Given the description of an element on the screen output the (x, y) to click on. 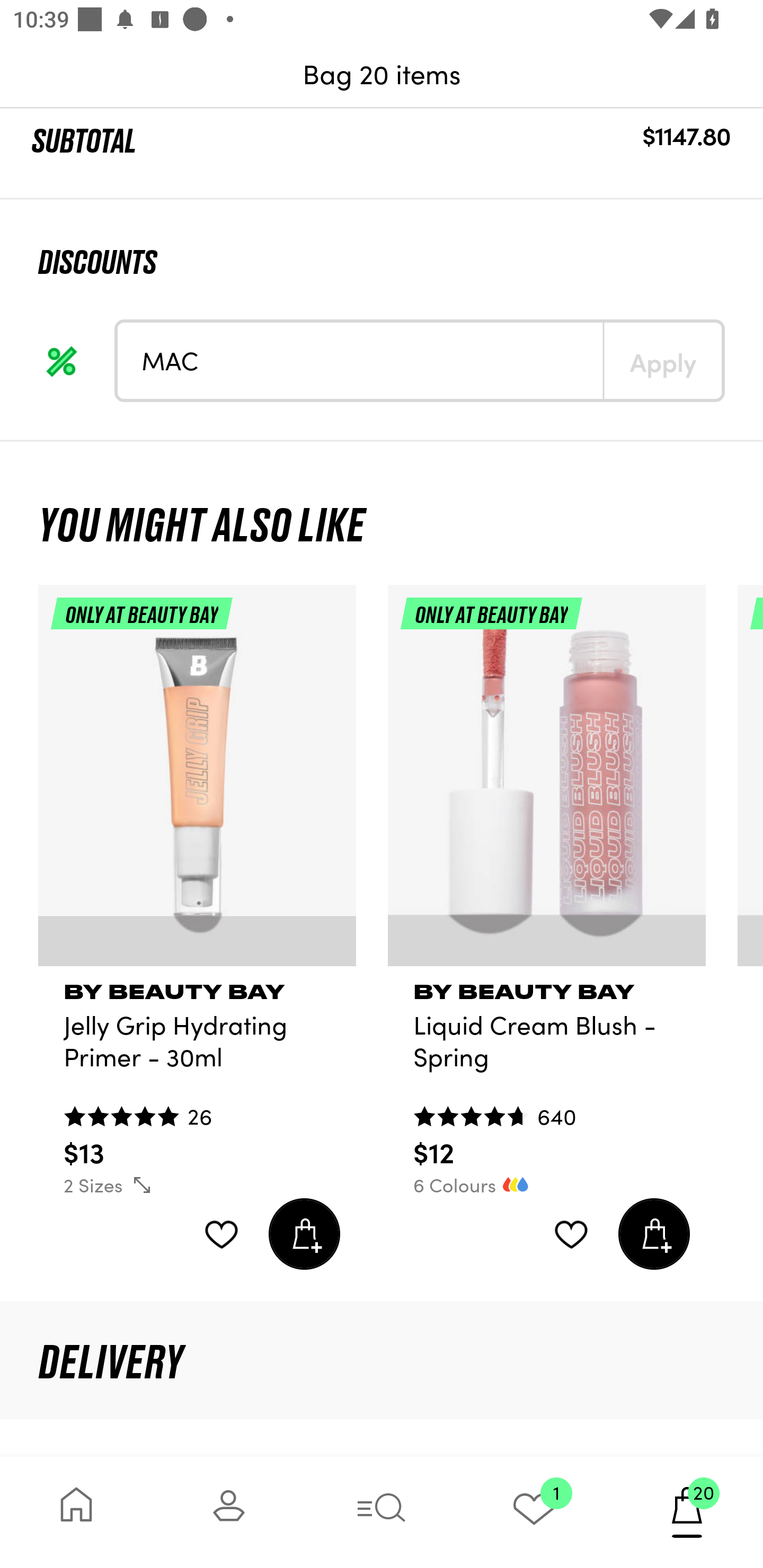
MAC (360, 360)
Apply (661, 360)
ONLY AT BEAUTY BAY (197, 782)
ONLY AT BEAUTY BAY (546, 782)
1 (533, 1512)
20 (686, 1512)
